Given the description of an element on the screen output the (x, y) to click on. 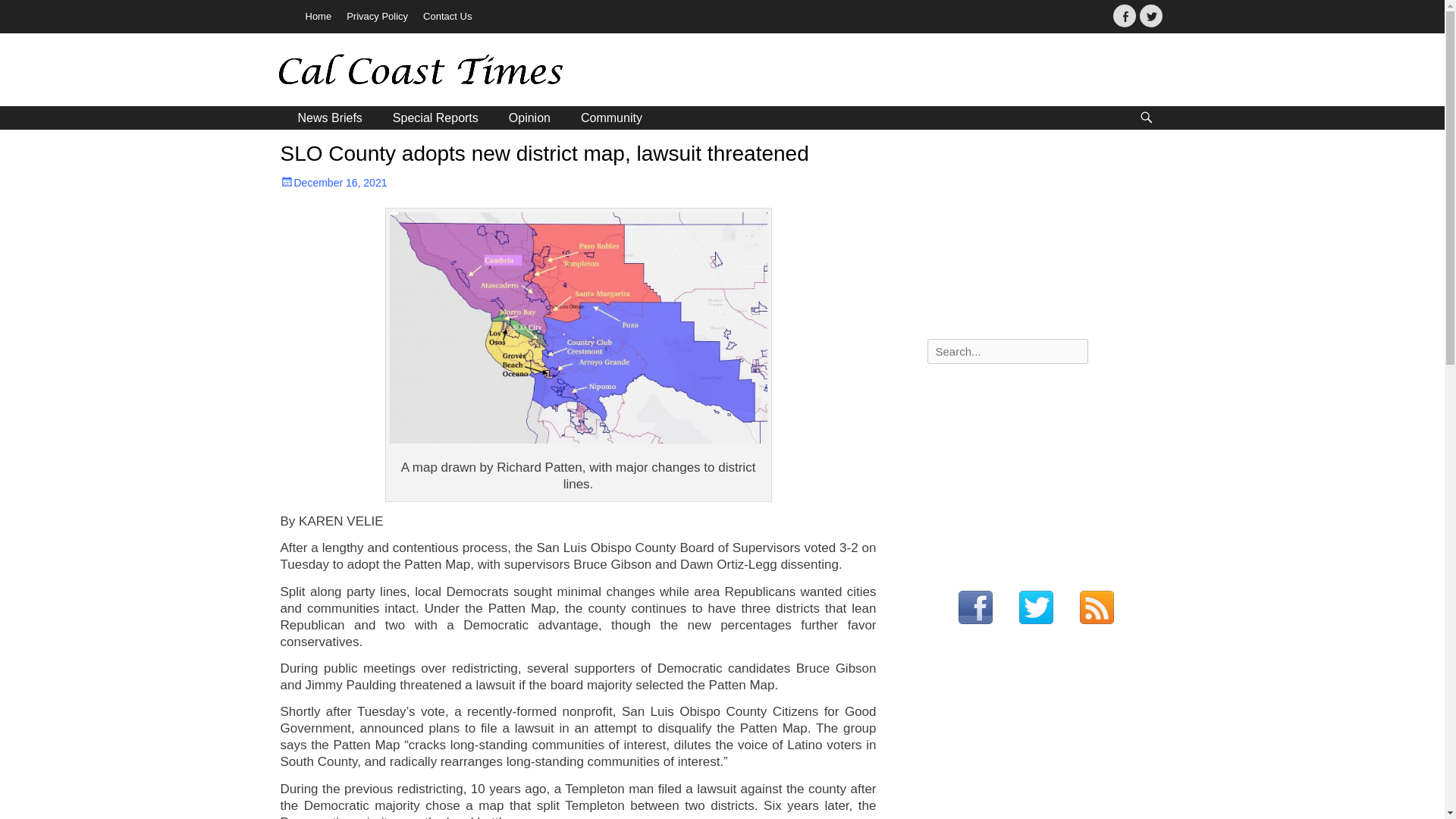
Facebook (1124, 15)
3rd party ad content (900, 70)
Special Reports (435, 117)
Cal Coast Times (386, 72)
3rd party ad content (1040, 470)
Cal Coast Times RSS Feed (1096, 608)
3rd party ad content (1040, 236)
Privacy Policy (376, 16)
Facebook (1124, 15)
Twitter (1149, 15)
December 16, 2021 (334, 182)
Cal Coast Times on Twitter (1035, 608)
Twitter (1149, 15)
Contact Us (446, 16)
Search for: (1006, 351)
